Given the description of an element on the screen output the (x, y) to click on. 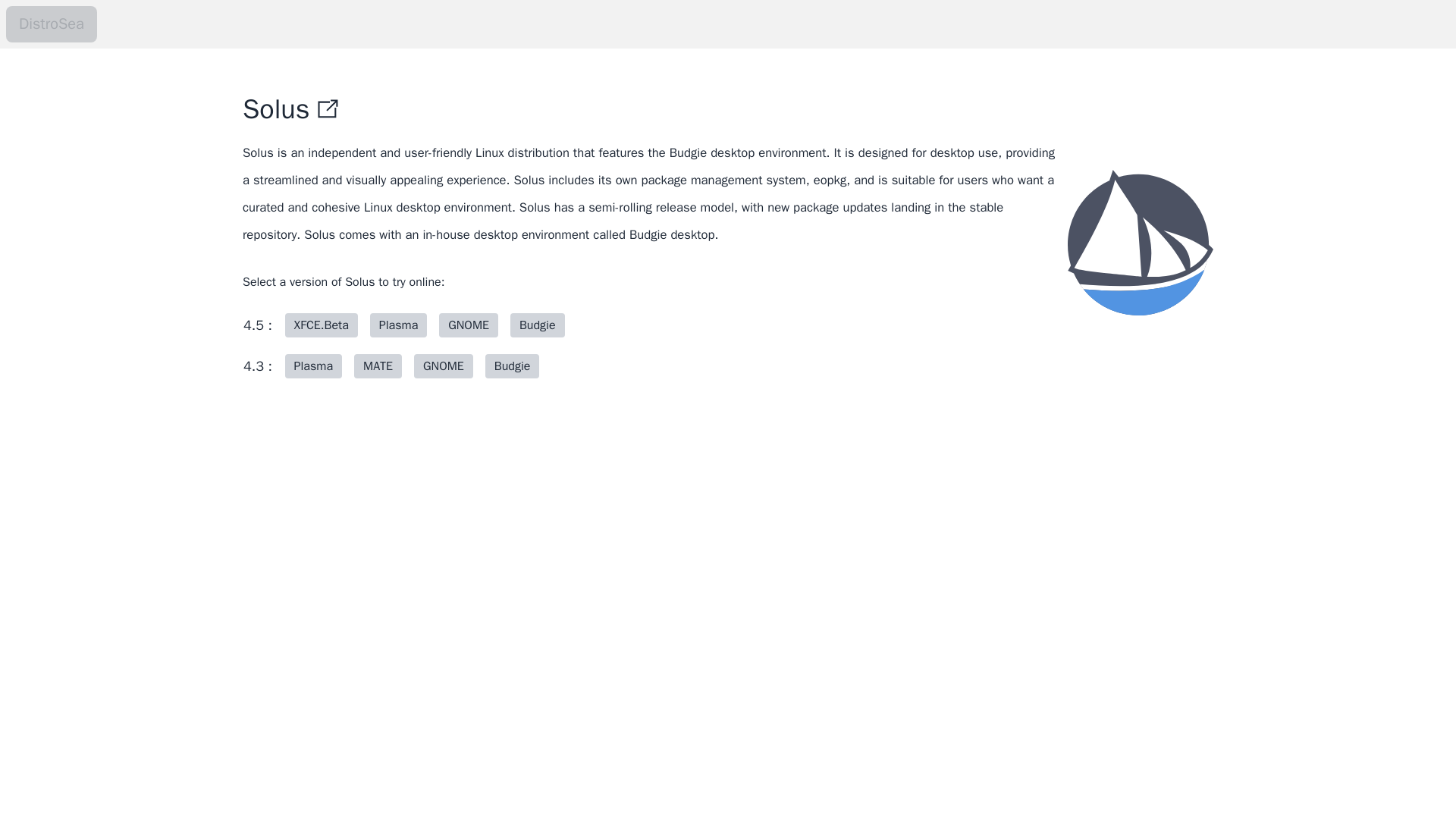
Plasma (313, 365)
GNOME (470, 325)
Plasma (316, 366)
Solus (275, 108)
GNOME (468, 324)
Budgie (539, 325)
DistroSea (51, 23)
MATE (380, 366)
XFCE.Beta (324, 325)
MATE (377, 365)
